Given the description of an element on the screen output the (x, y) to click on. 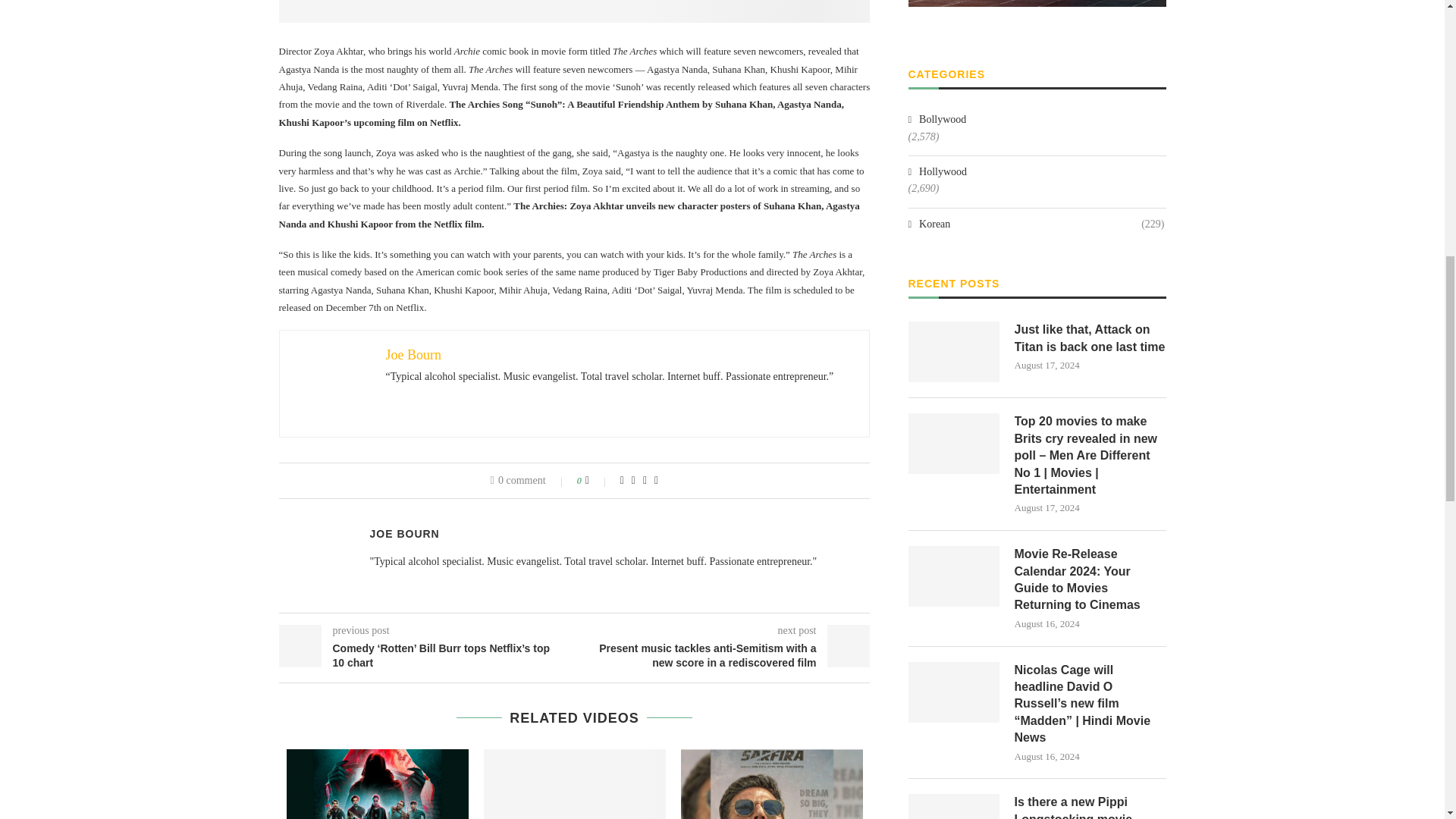
Joe Bourn (413, 354)
Like (597, 480)
Author Joe Bourn (404, 533)
JOE BOURN (404, 533)
